Given the description of an element on the screen output the (x, y) to click on. 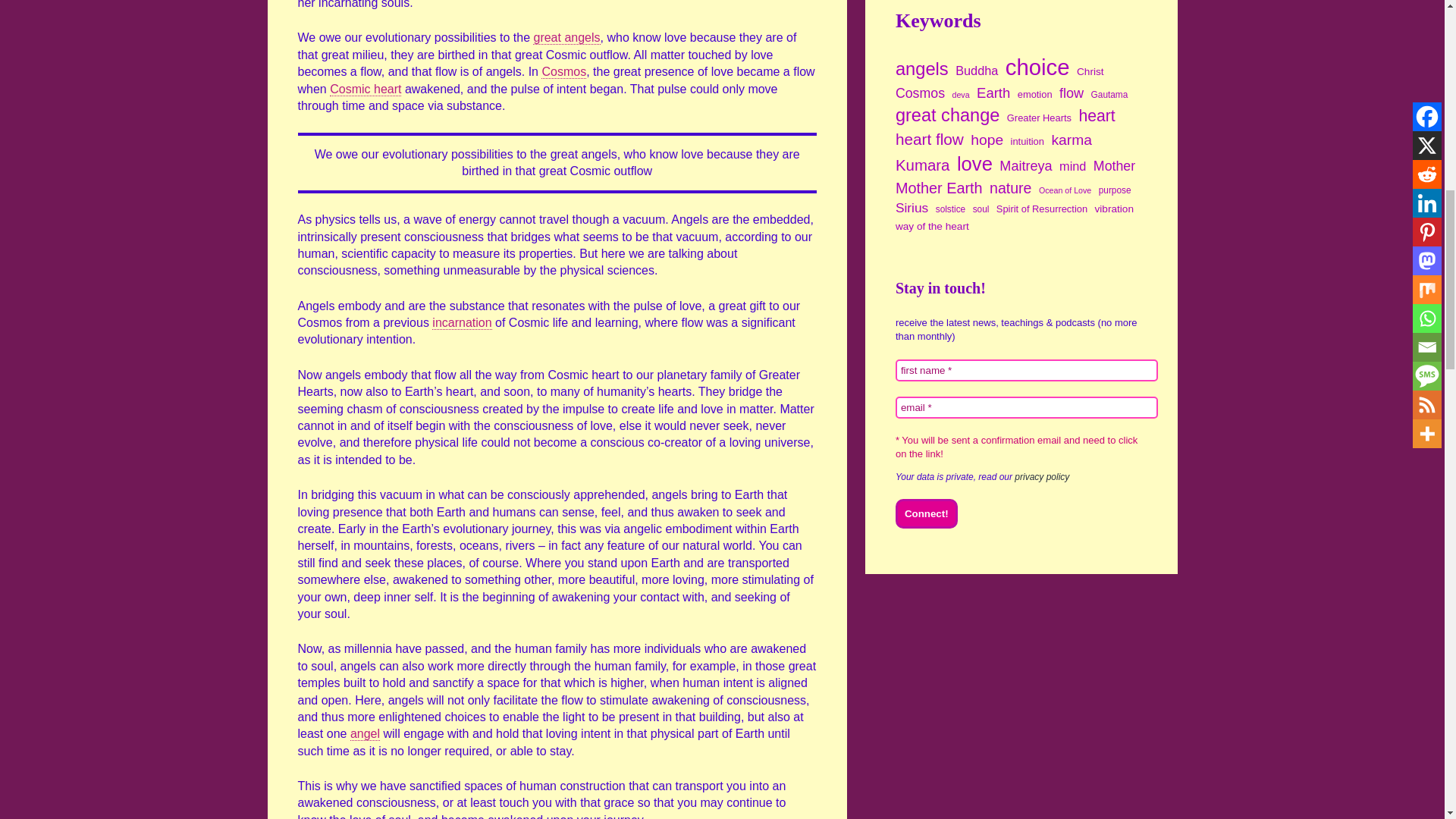
incarnation (462, 323)
great angels (565, 38)
Cosmos (563, 71)
angel (365, 734)
Connect! (926, 513)
Cosmic heart (365, 89)
